Given the description of an element on the screen output the (x, y) to click on. 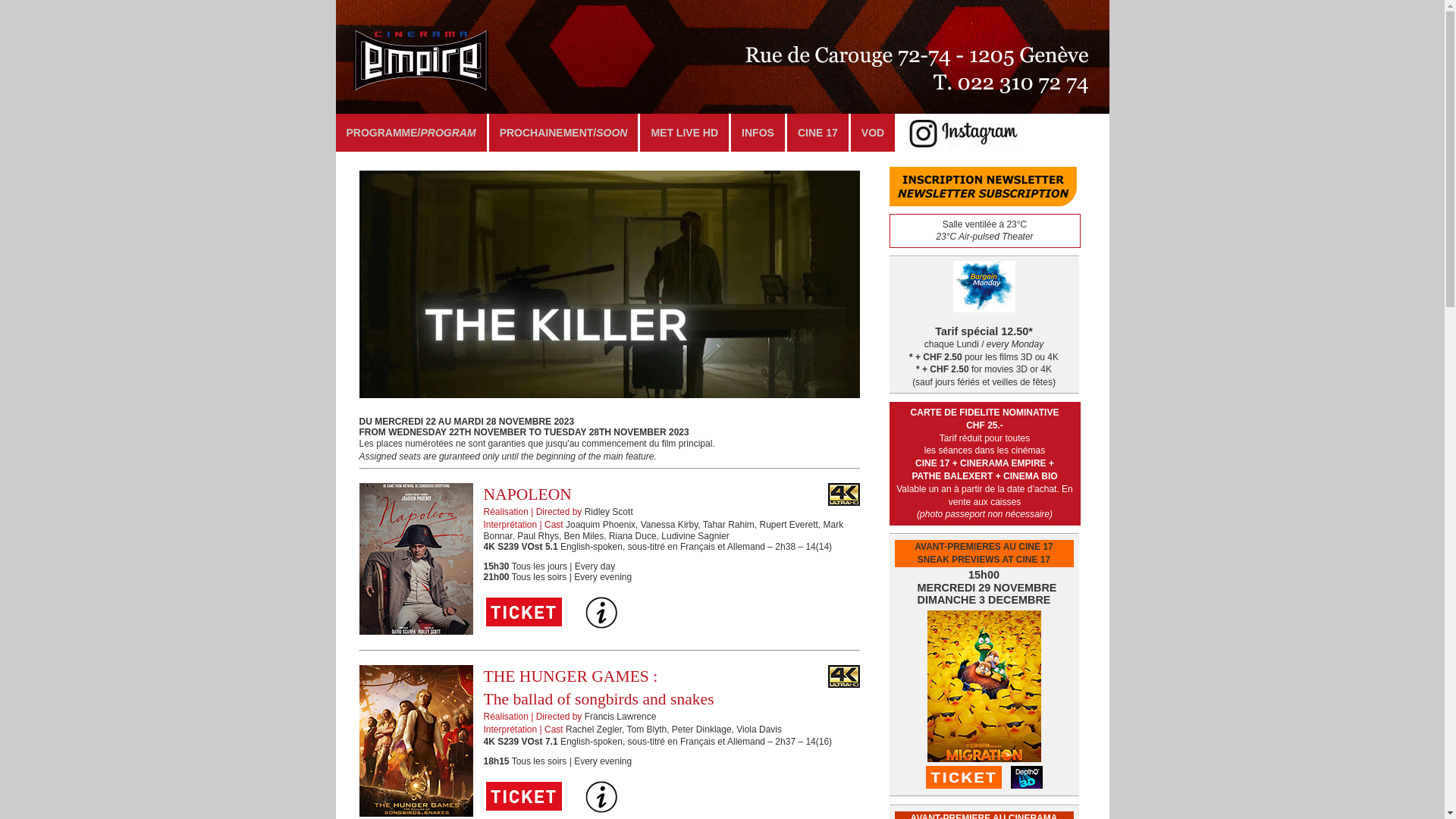
PROGRAMME/PROGRAM Element type: text (410, 132)
CINE 17 Element type: text (817, 132)
INFOS Element type: text (757, 132)
PROCHAINEMENT/SOON Element type: text (563, 132)
VOD Element type: text (872, 132)
MET LIVE HD Element type: text (684, 132)
